Given the description of an element on the screen output the (x, y) to click on. 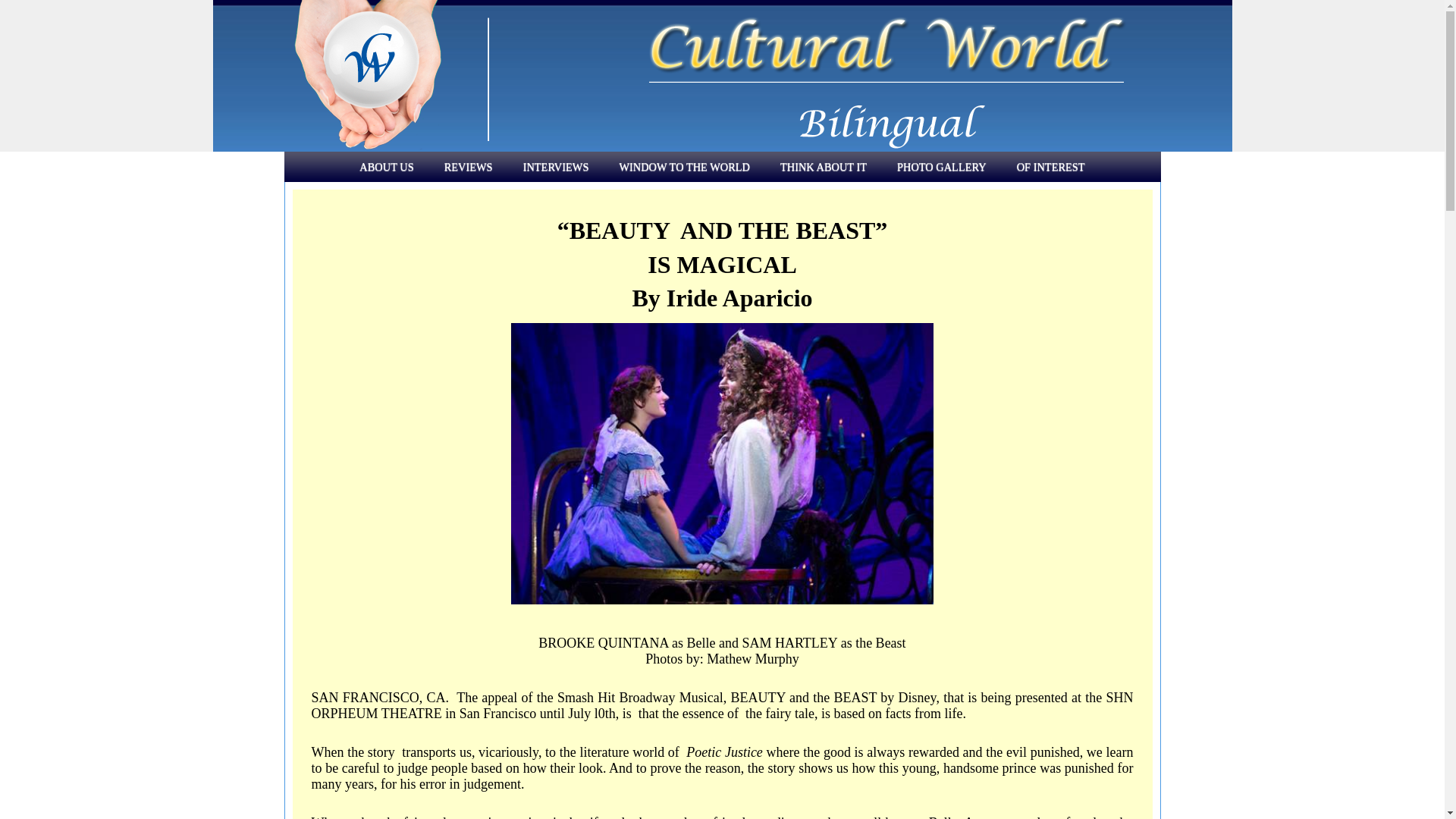
ABOUT US (385, 166)
REVIEWS (468, 166)
